Given the description of an element on the screen output the (x, y) to click on. 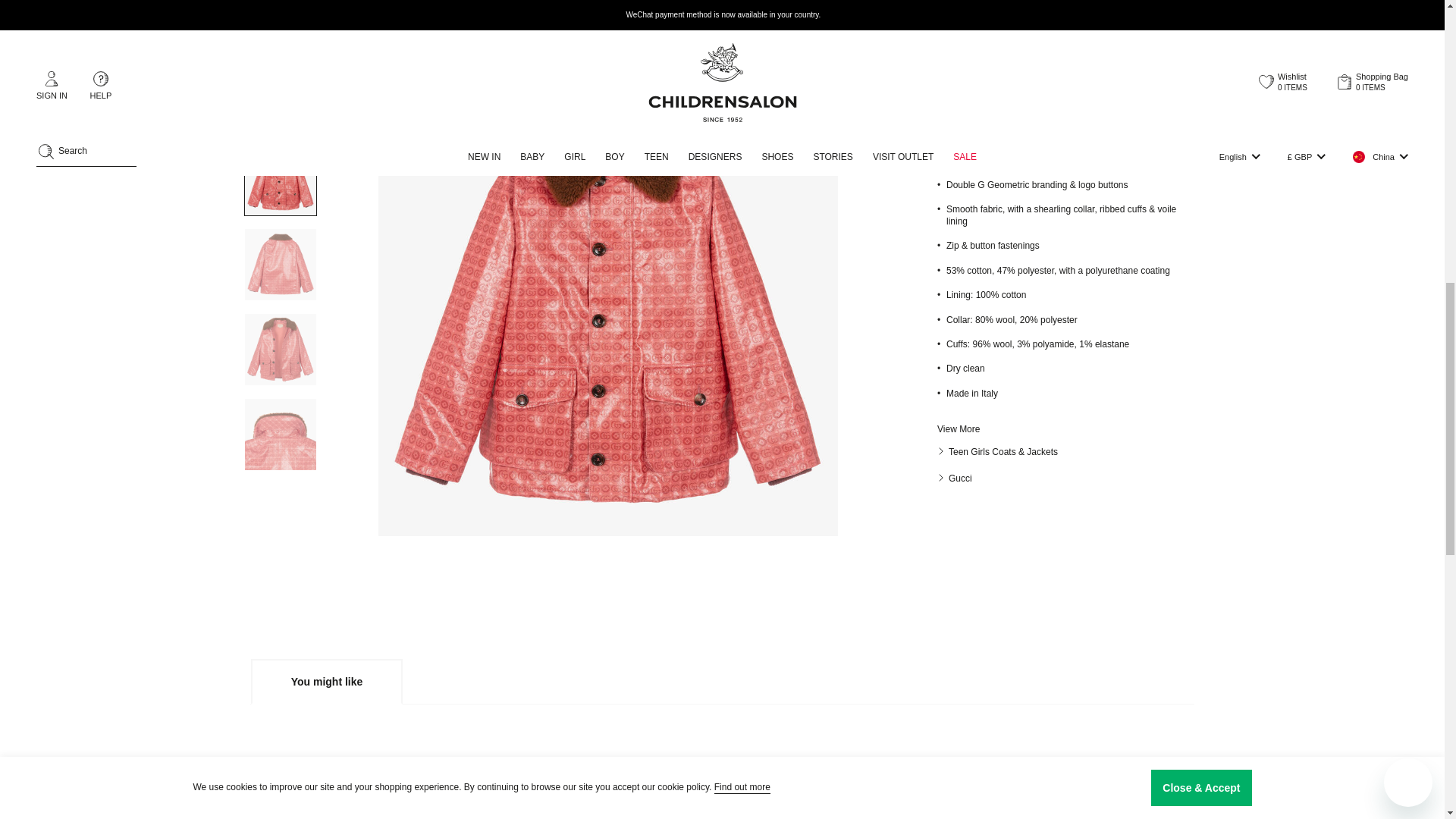
Teen Green Cotton Double G Jacket (595, 755)
Gucci (954, 478)
Teen Girls Pink Wool Striped Cardigan (1080, 755)
